Given the description of an element on the screen output the (x, y) to click on. 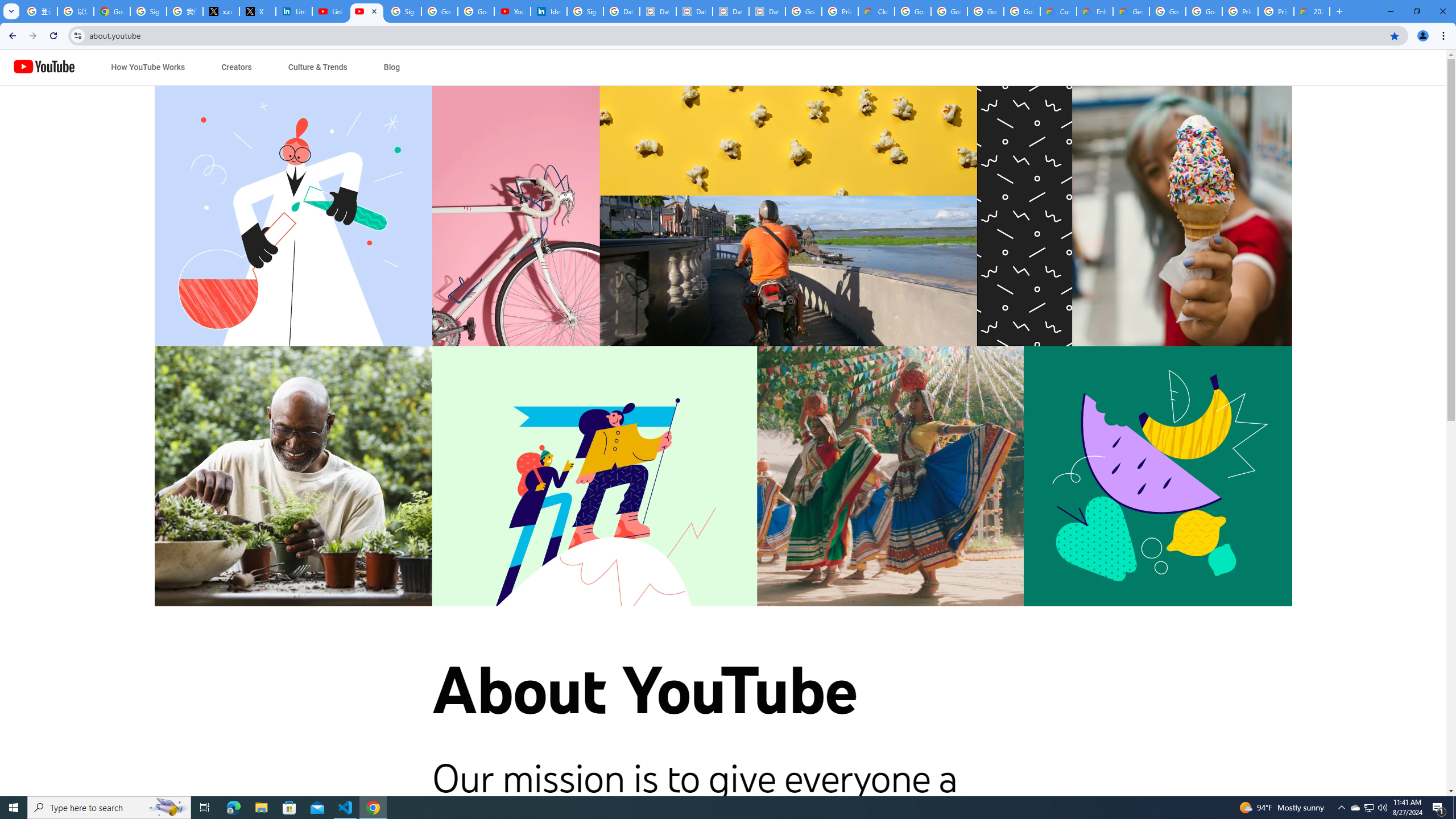
Data Privacy Framework (694, 11)
Sign in - Google Accounts (148, 11)
Enhanced Support | Google Cloud (1094, 11)
Data Privacy Framework (657, 11)
